Given the description of an element on the screen output the (x, y) to click on. 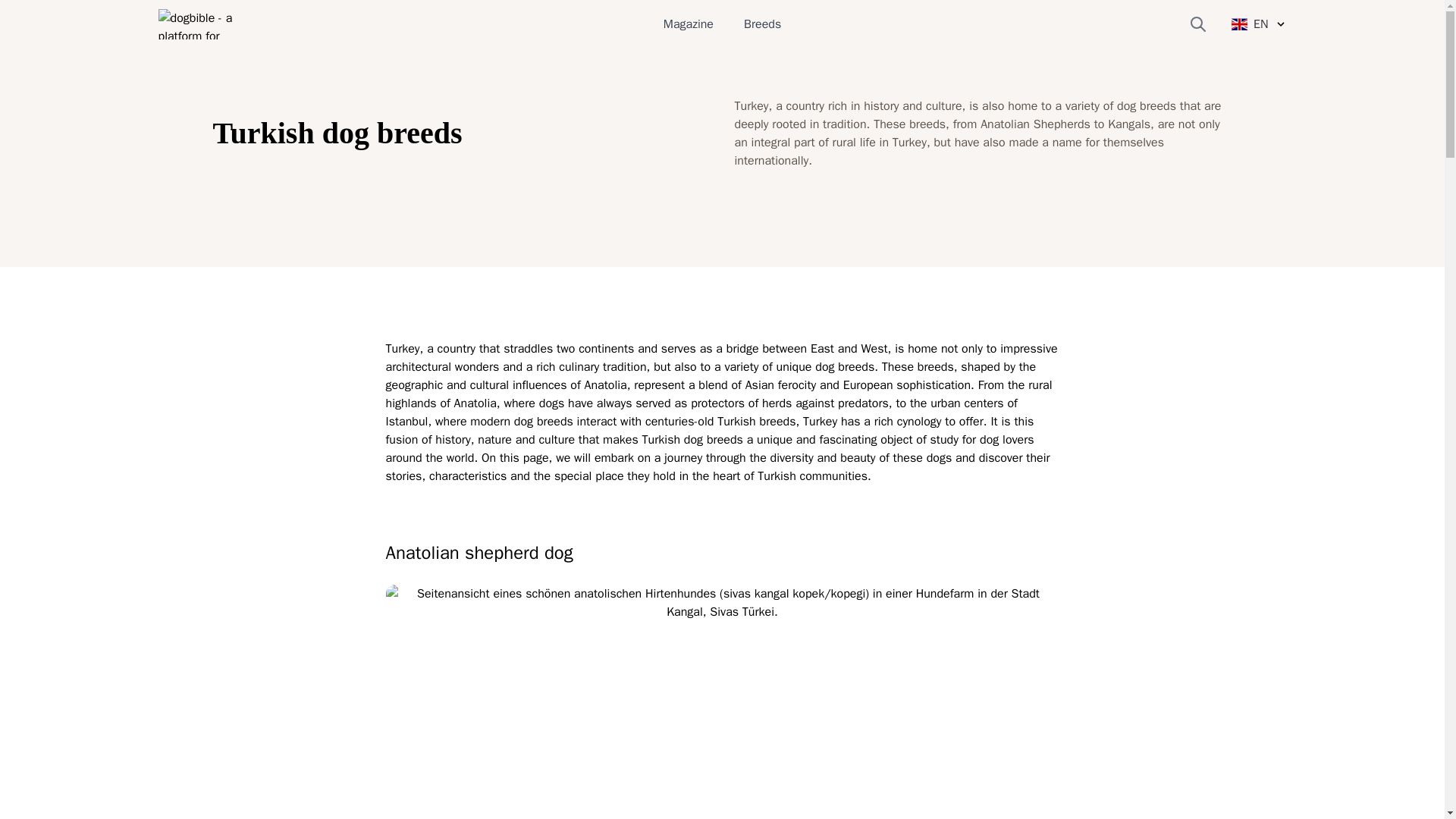
Magazine (688, 23)
EN (1259, 24)
Breeds (762, 23)
dogbible (206, 24)
dogbible - a platform for people who love dogs (206, 24)
